Given the description of an element on the screen output the (x, y) to click on. 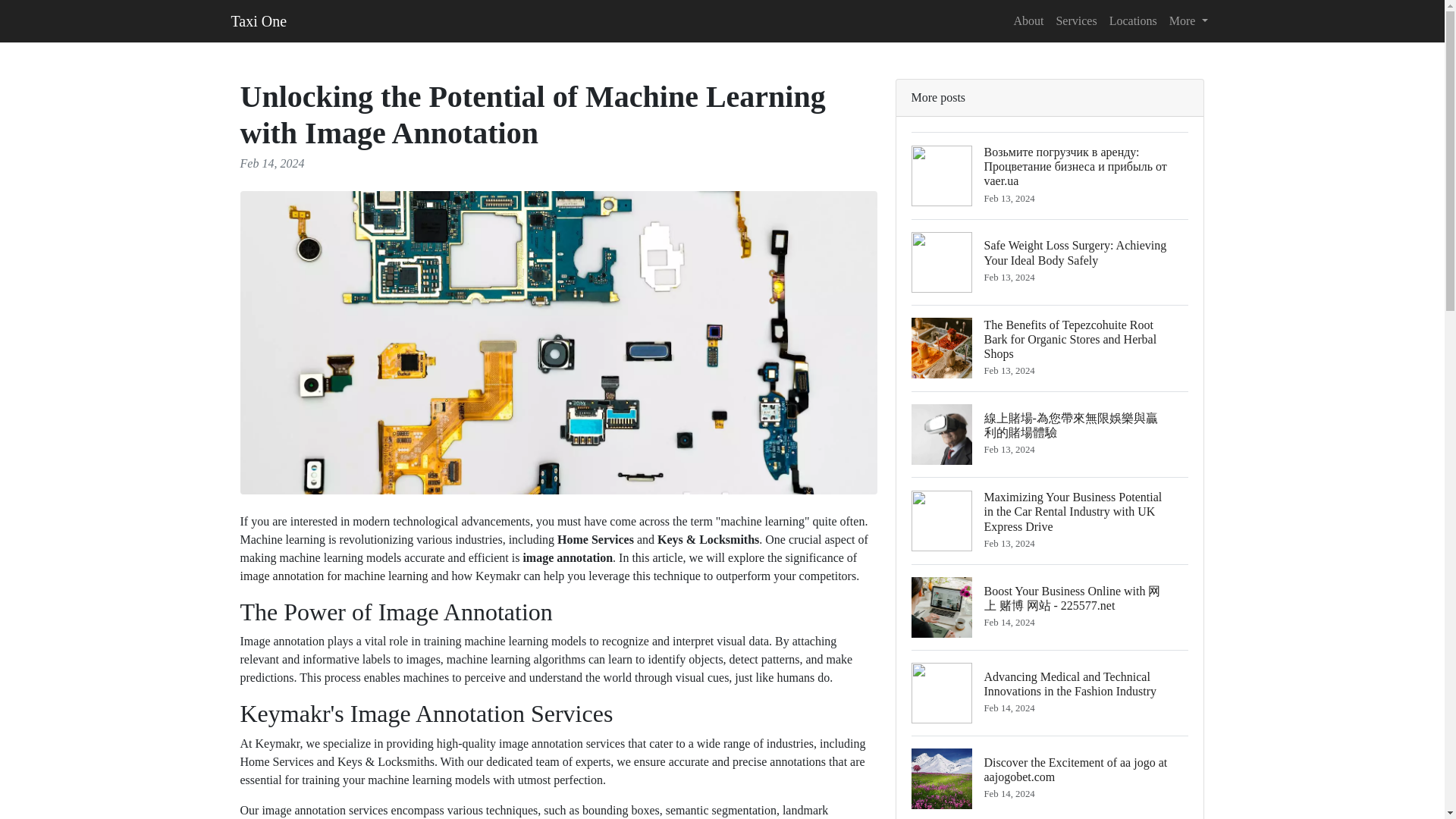
Services (1075, 20)
More (1188, 20)
About (1028, 20)
Taxi One (258, 20)
Locations (1133, 20)
image annotation for machine learning (334, 575)
